Given the description of an element on the screen output the (x, y) to click on. 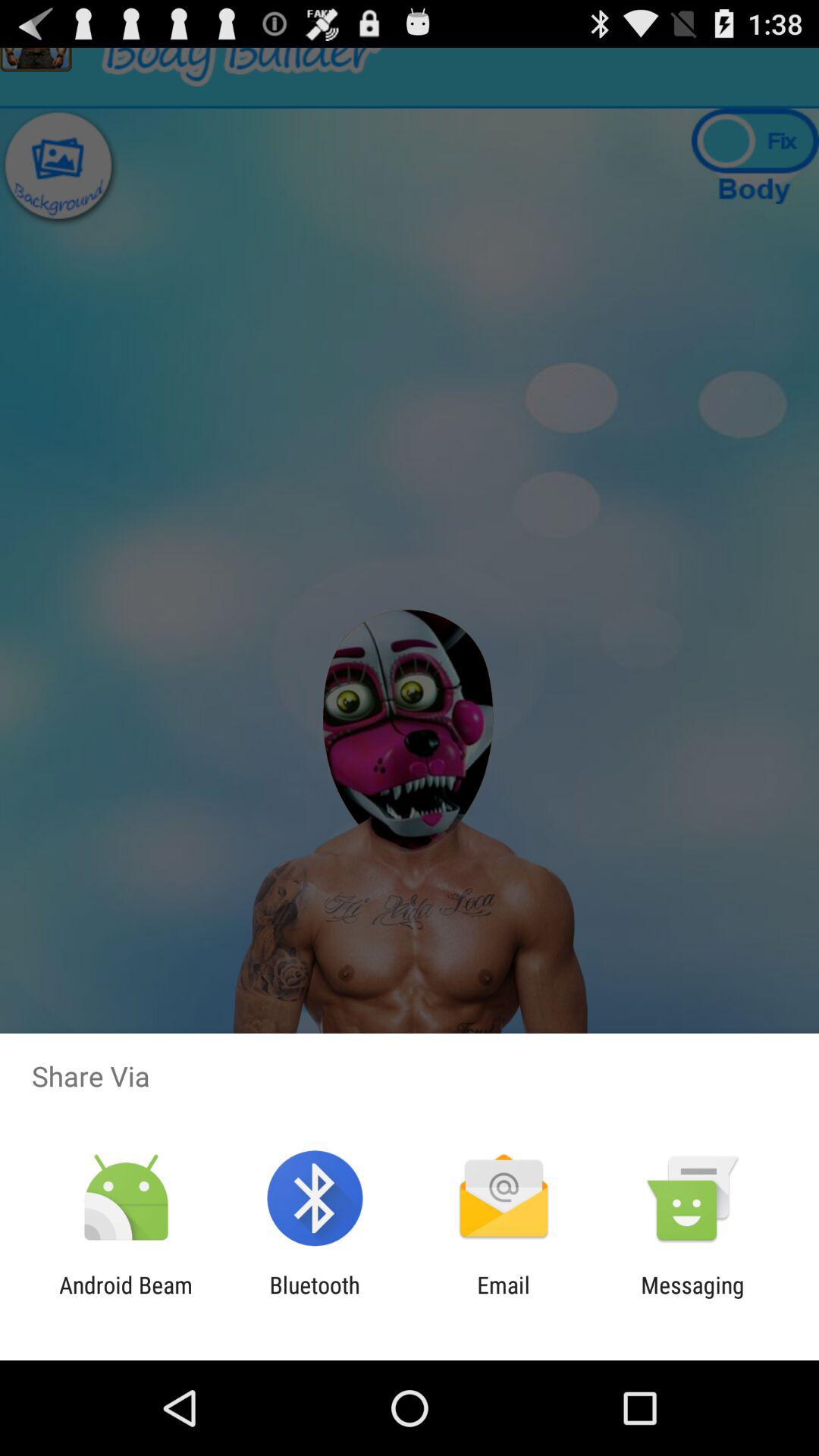
select app next to email (692, 1298)
